Given the description of an element on the screen output the (x, y) to click on. 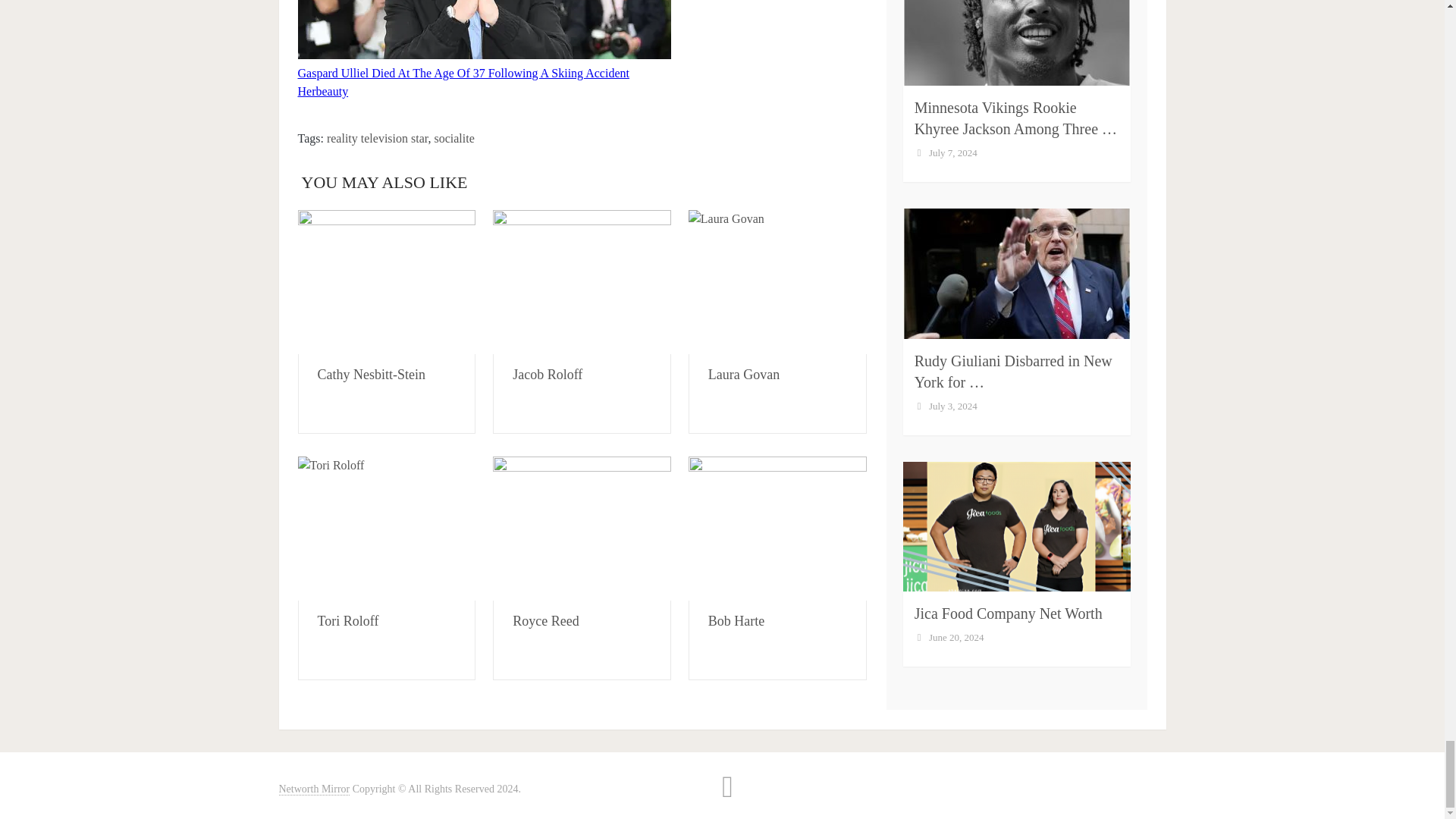
Cathy Nesbitt-Stein (371, 374)
Laura Govan (777, 281)
reality television star (377, 137)
Jacob Roloff (582, 281)
Cathy Nesbitt-Stein (386, 281)
Jacob Roloff (547, 374)
Bob Harte (777, 528)
Laura Govan (742, 374)
Royce Reed (582, 528)
Tori Roloff (386, 528)
socialite (453, 137)
